Given the description of an element on the screen output the (x, y) to click on. 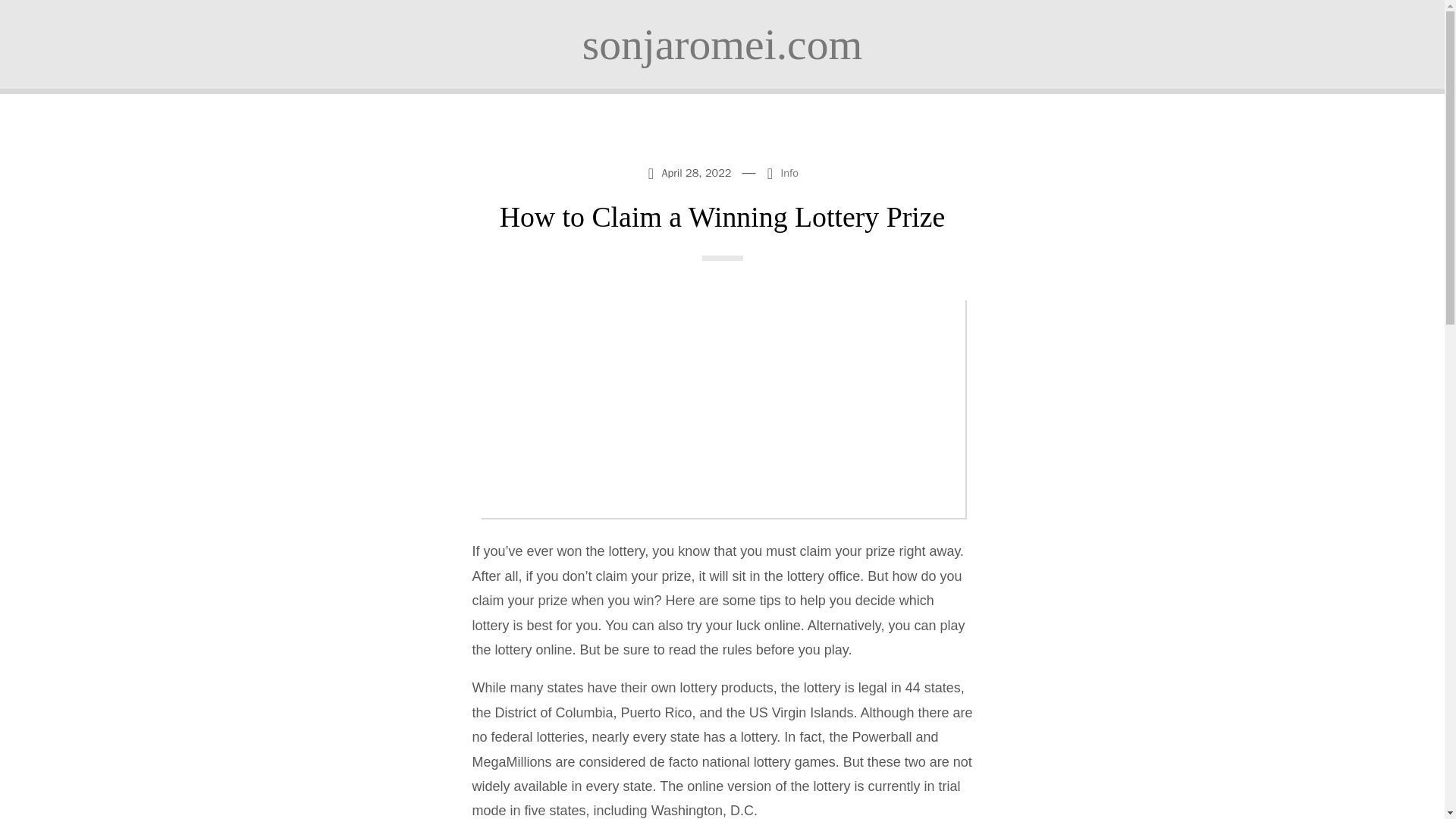
sonjaromei.com (721, 43)
Info (789, 172)
